Given the description of an element on the screen output the (x, y) to click on. 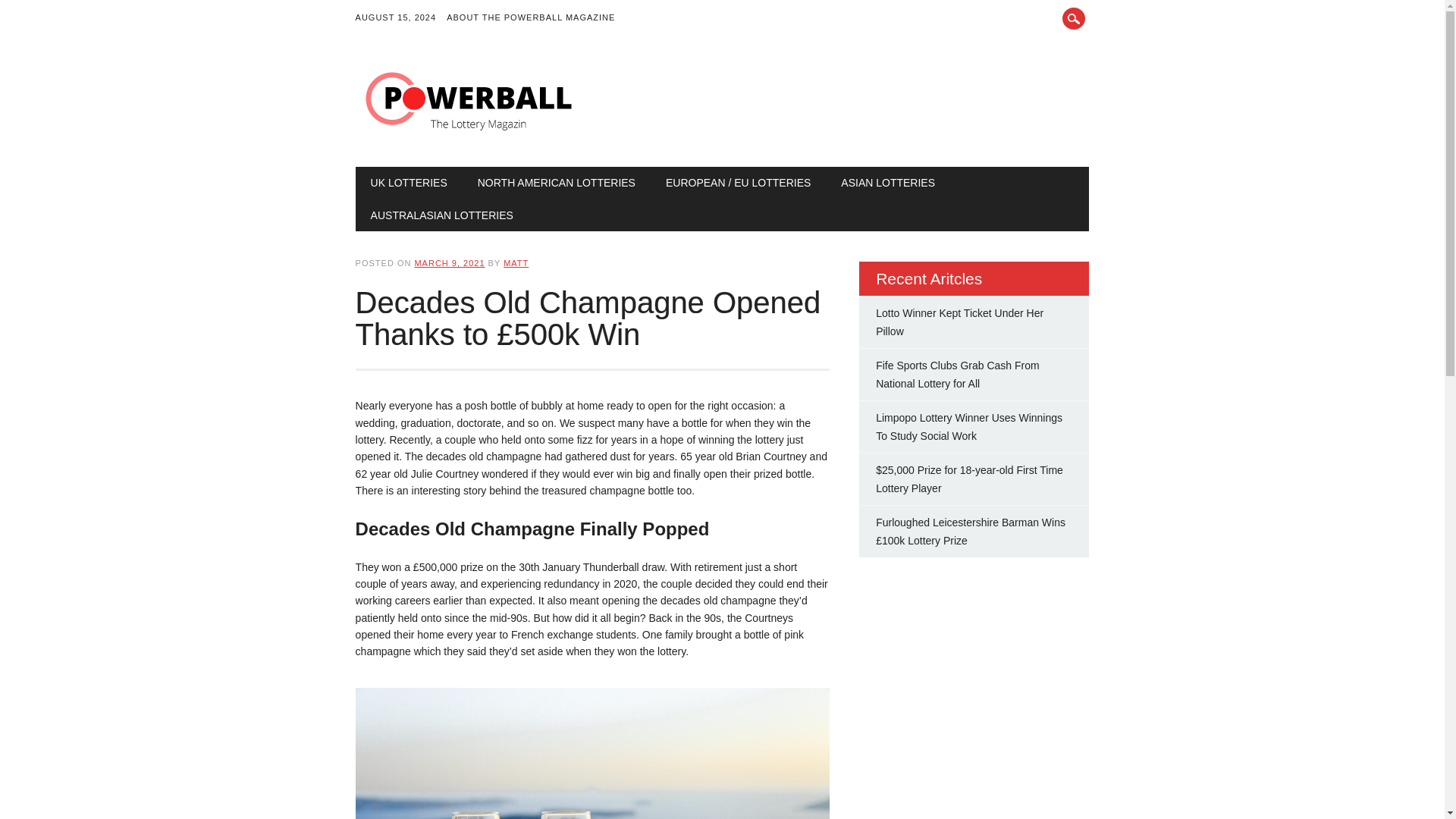
ABOUT THE POWERBALL MAGAZINE (536, 17)
Powerball (469, 135)
Fife Sports Clubs Grab Cash From National Lottery for All (957, 374)
Lotto Winner Kept Ticket Under Her Pillow (959, 322)
11:09 am (448, 262)
ASIAN LOTTERIES (887, 183)
NORTH AMERICAN LOTTERIES (556, 183)
View all posts by Matt (515, 262)
MARCH 9, 2021 (448, 262)
UK LOTTERIES (409, 183)
